Given the description of an element on the screen output the (x, y) to click on. 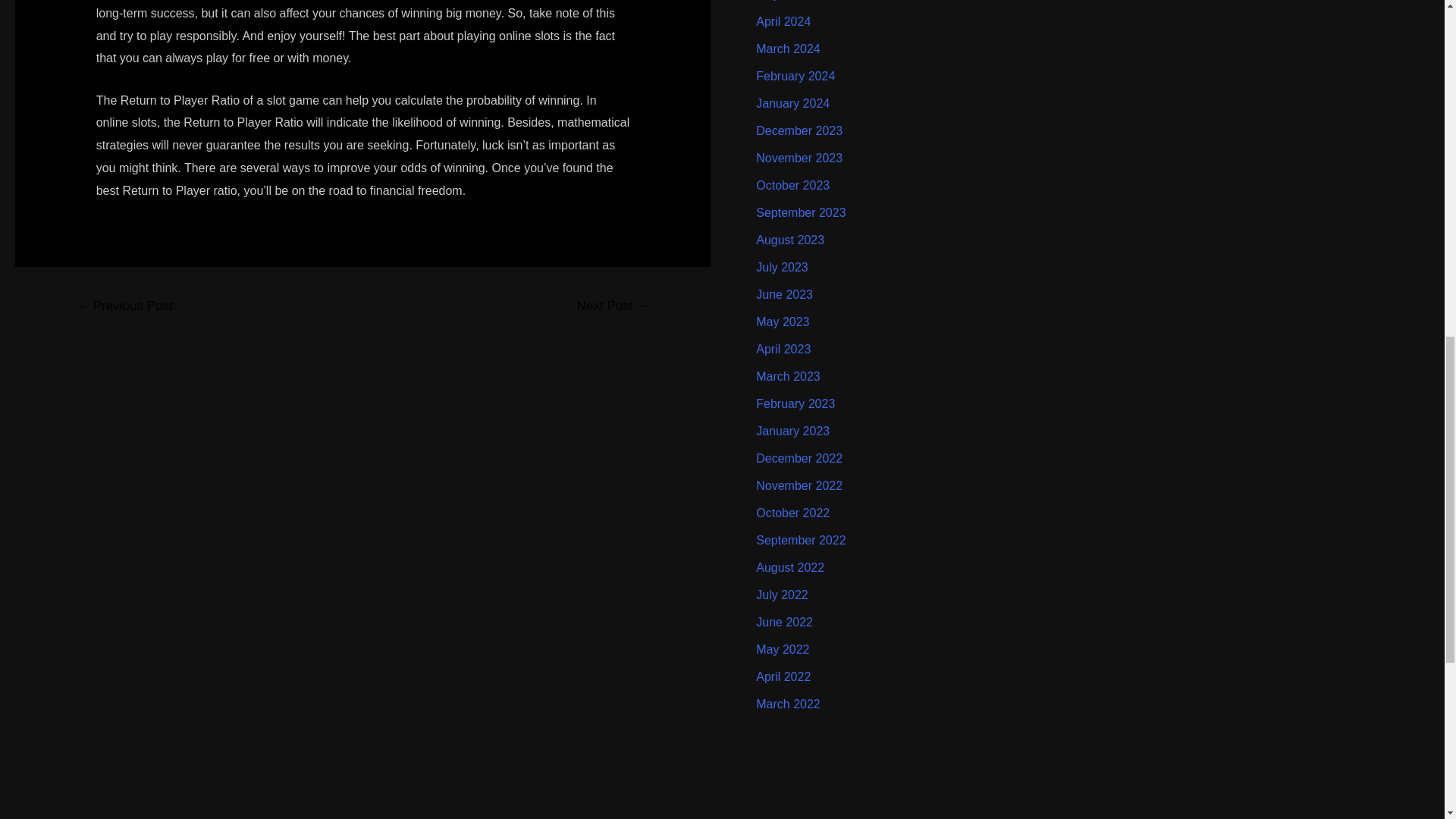
March 2023 (788, 376)
August 2023 (789, 239)
December 2022 (799, 458)
November 2022 (799, 485)
October 2022 (792, 512)
January 2023 (792, 431)
April 2023 (782, 349)
July 2023 (781, 267)
March 2024 (788, 48)
November 2023 (799, 157)
September 2023 (800, 212)
June 2023 (783, 294)
May 2023 (782, 321)
February 2024 (794, 75)
April 2024 (782, 21)
